Given the description of an element on the screen output the (x, y) to click on. 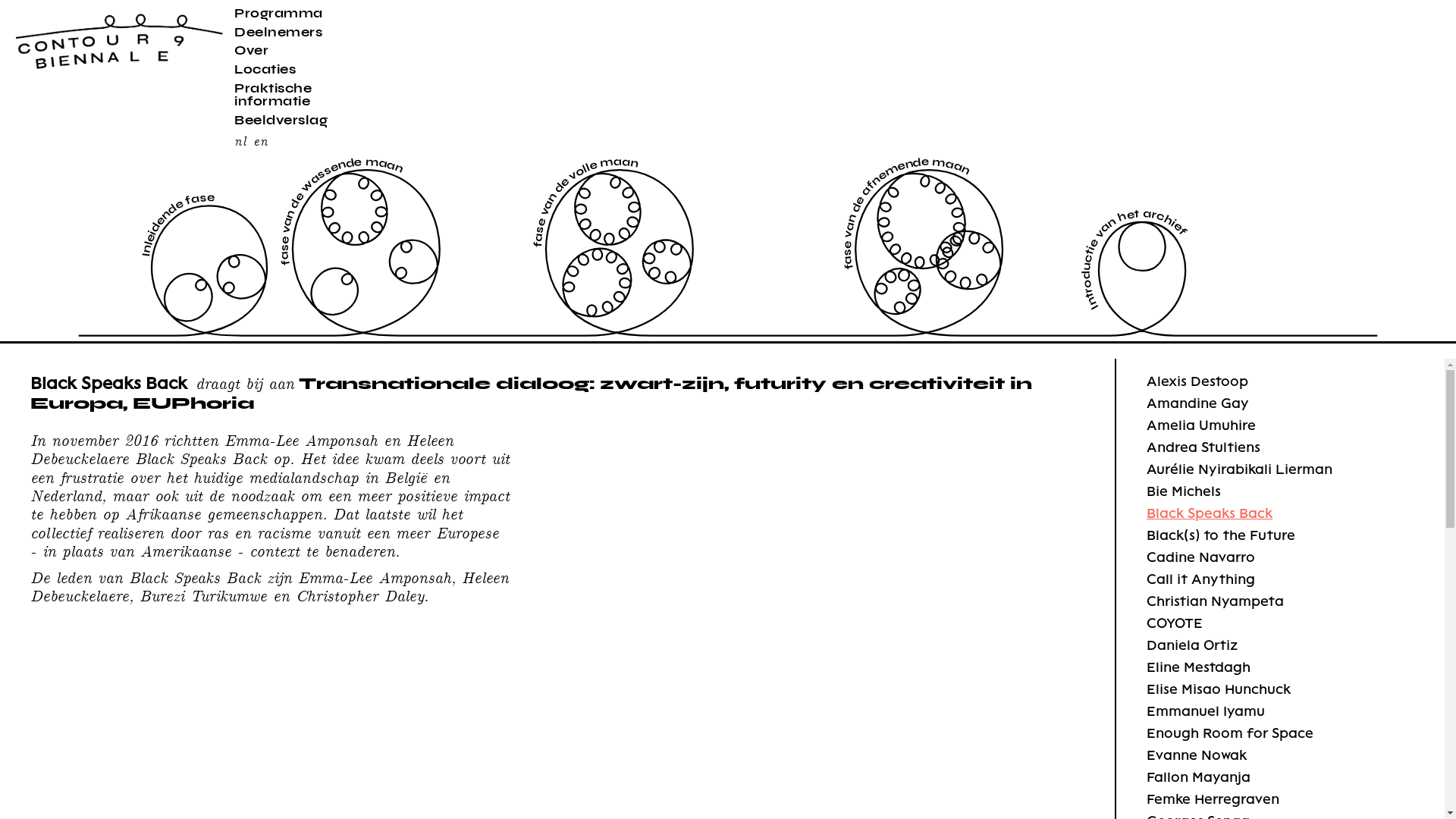
nl Element type: text (239, 140)
Daniela Ortiz Element type: text (1191, 644)
Eline Mestdagh Element type: text (1198, 666)
EUPhoria Element type: text (193, 402)
Enough Room for Space Element type: text (1229, 732)
Femke Herregraven Element type: text (1212, 798)
Black(s) to the Future Element type: text (1220, 534)
Cadine Navarro Element type: text (1200, 556)
Andrea Stultiens Element type: text (1203, 447)
Elise Misao Hunchuck Element type: text (1218, 688)
en Element type: text (260, 140)
Emmanuel Iyamu Element type: text (1205, 710)
Call it Anything Element type: text (1200, 578)
Beeldverslag Element type: text (280, 119)
Programma Element type: text (278, 12)
Black Speaks Back Element type: text (1209, 512)
Praktische informatie Element type: text (272, 94)
Amelia Umuhire Element type: text (1200, 425)
Amandine Gay Element type: text (1197, 403)
Bie Michels Element type: text (1183, 490)
Alexis Destoop Element type: text (1197, 381)
COYOTE Element type: text (1174, 622)
Locaties Element type: text (264, 68)
Christian Nyampeta Element type: text (1214, 600)
Deelnemers Element type: text (278, 31)
Over Element type: text (251, 49)
Evanne Nowak Element type: text (1196, 754)
Fallon Mayanja Element type: text (1198, 776)
